Given the description of an element on the screen output the (x, y) to click on. 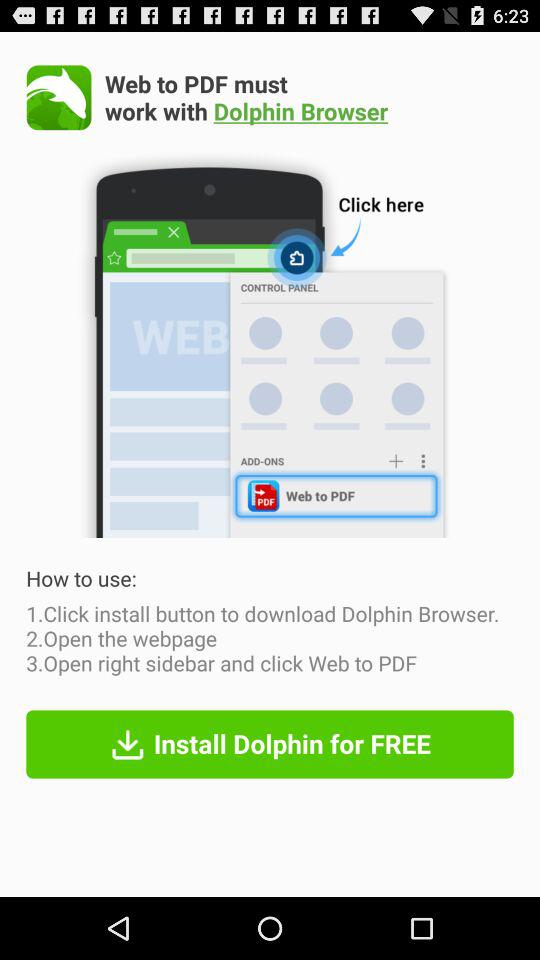
app logo (58, 97)
